Given the description of an element on the screen output the (x, y) to click on. 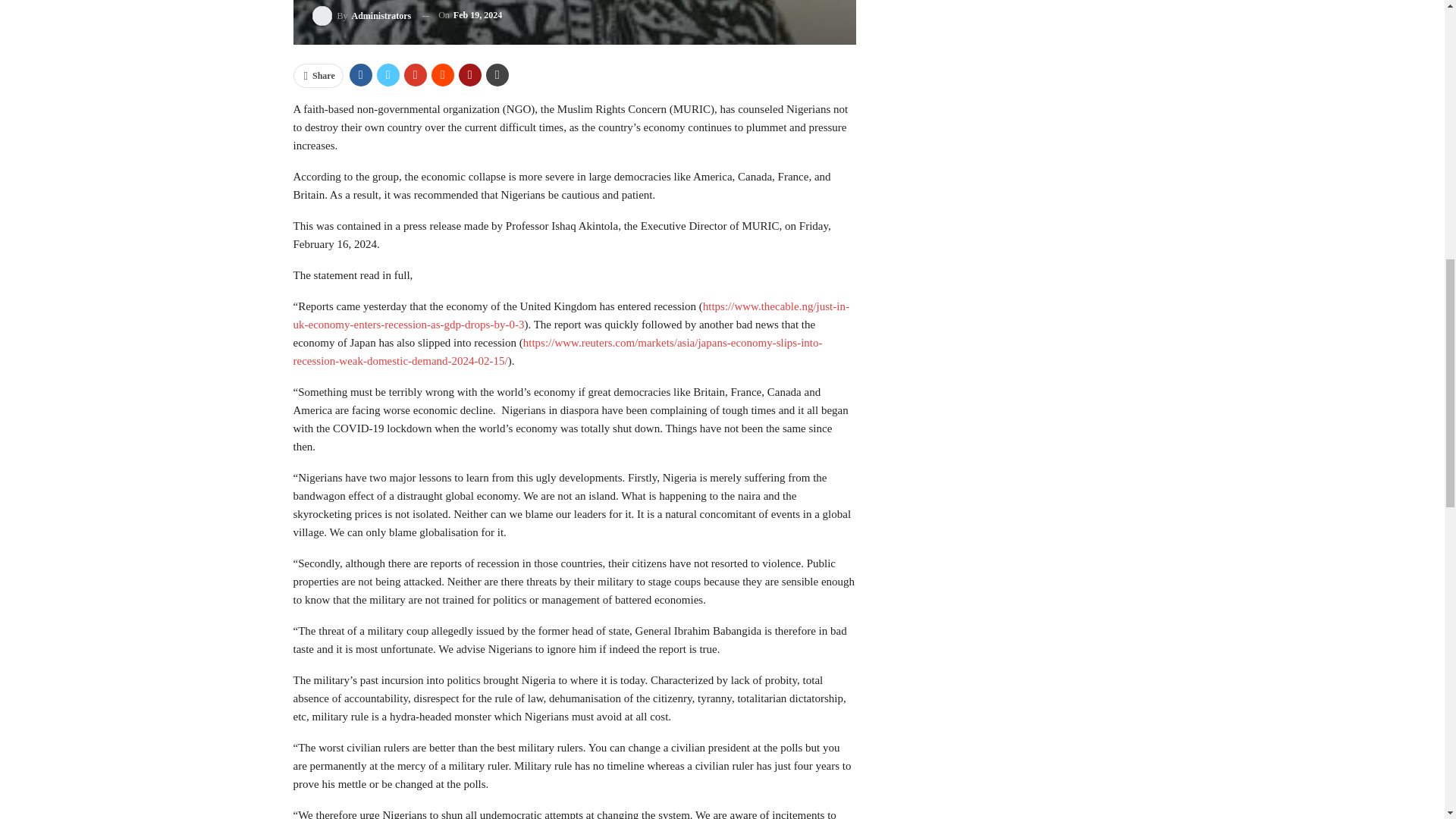
ECONOMIC DECLINE NOT AFFECTING NIGERIA ALONE, SAYS MURIC (574, 22)
Browse Author Articles (362, 14)
